Given the description of an element on the screen output the (x, y) to click on. 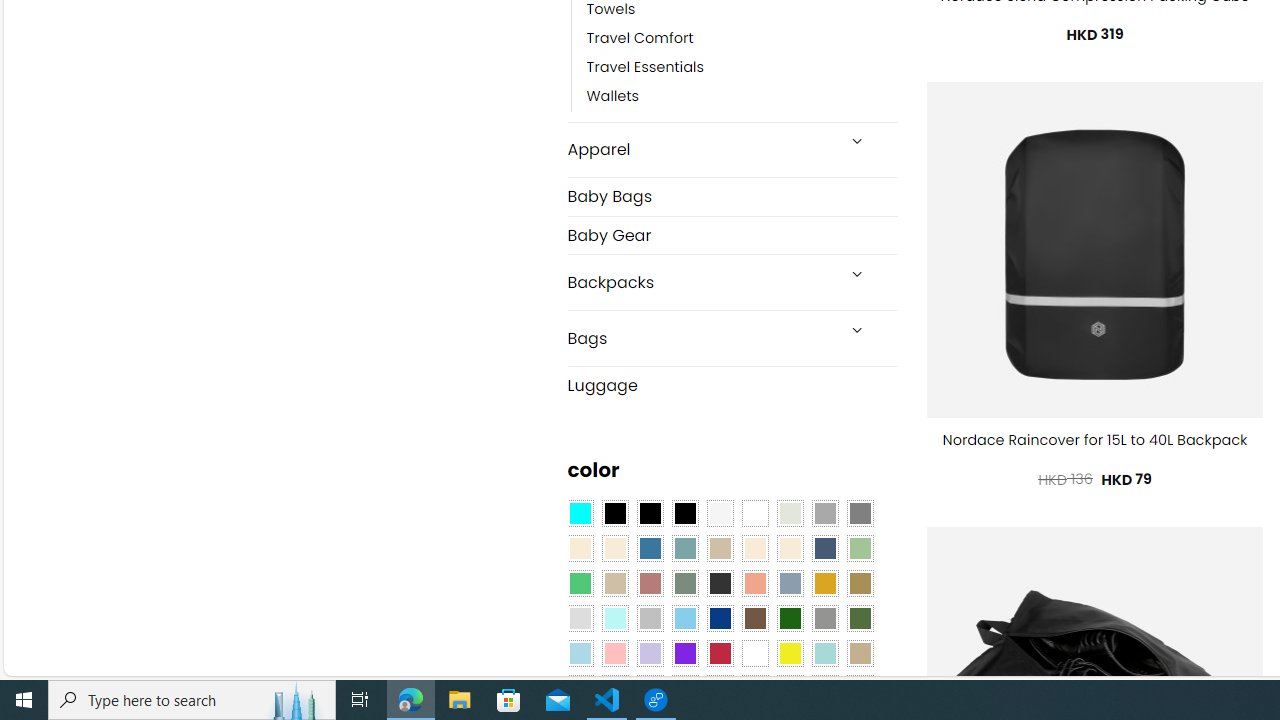
Baby Bags (732, 196)
Purple (684, 653)
Backpacks (700, 282)
White (755, 653)
Emerald Green (579, 583)
All Black (614, 514)
Light Purple (650, 653)
Travel Essentials (645, 67)
Nordace Raincover for 15L to 40L Backpack (1095, 440)
Bags (700, 337)
Ash Gray (789, 514)
Gray (824, 619)
Light Gray (579, 619)
Aqua Blue (579, 514)
